Given the description of an element on the screen output the (x, y) to click on. 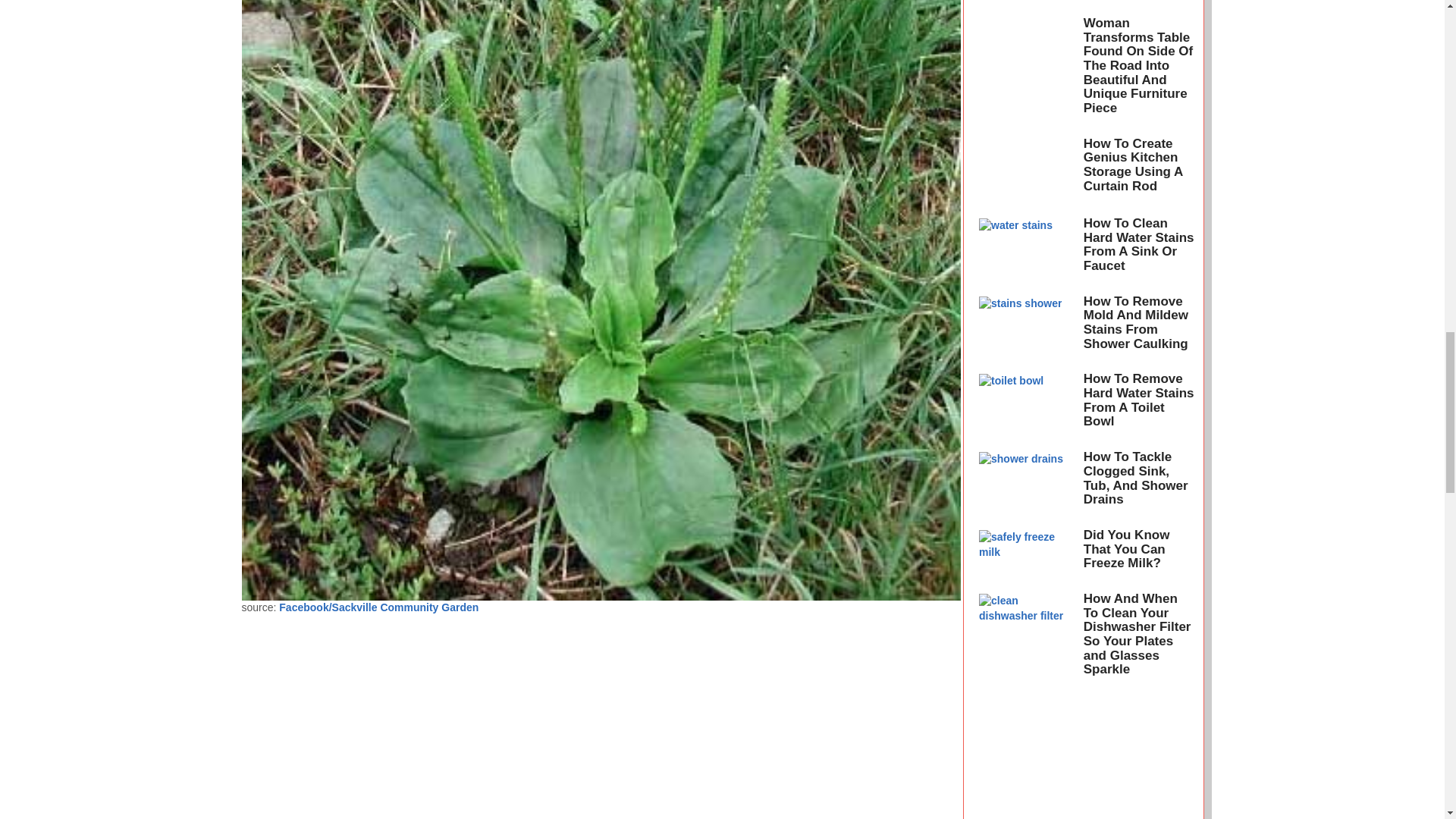
Read more (1027, 170)
How To Clean Hard Water Stains From A Sink Or Faucet (1138, 244)
Read more (1027, 70)
Read more (1027, 405)
Read more (1027, 5)
Read more (1027, 327)
Did You Know That You Can Freeze Milk? (1126, 548)
Read more (1027, 483)
How To Tackle Clogged Sink, Tub, And Shower Drains (1135, 477)
